Given the description of an element on the screen output the (x, y) to click on. 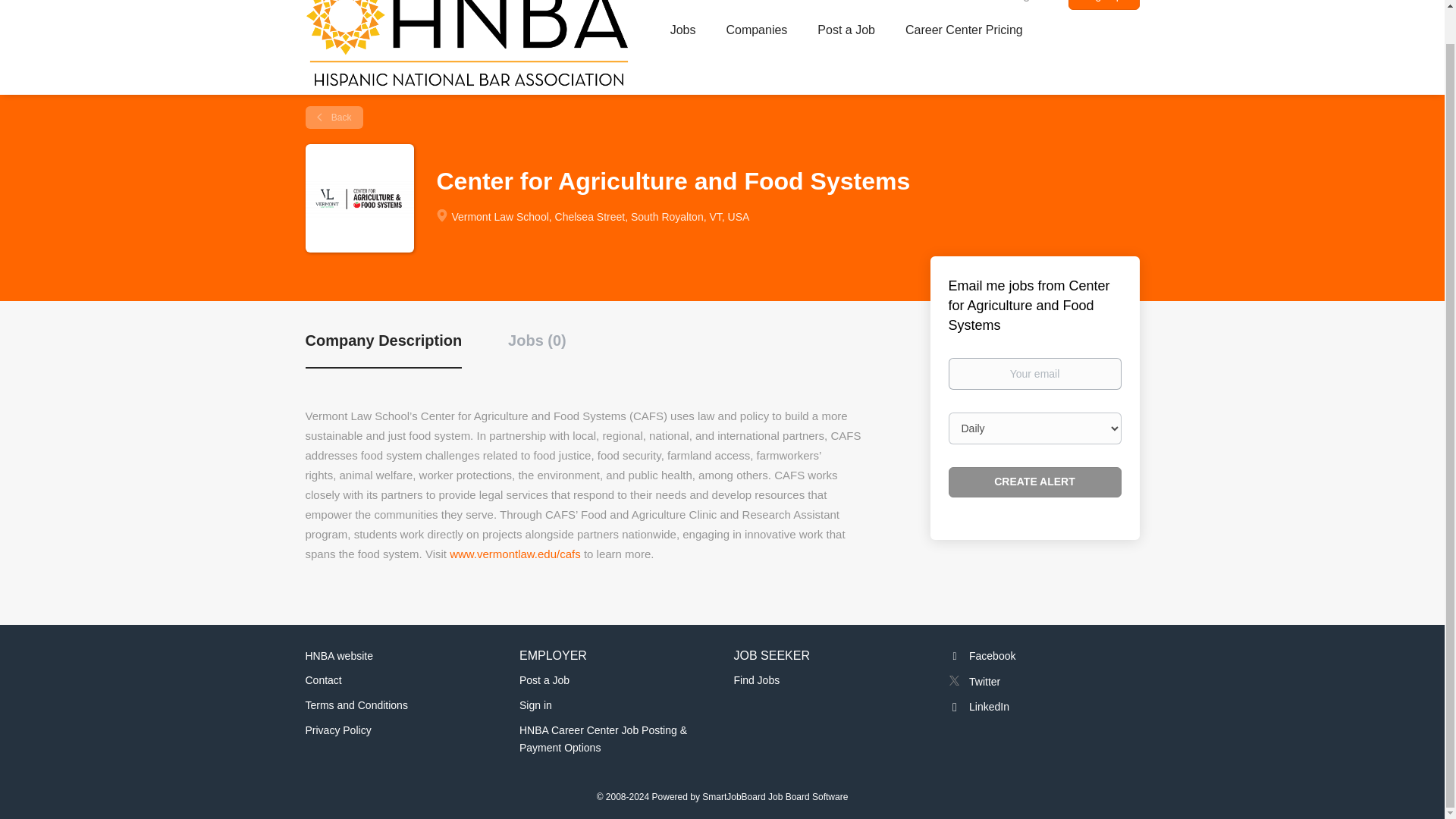
Company Description (382, 349)
Sign in (1031, 5)
Sign in (535, 705)
Facebook (980, 655)
Post a Job (544, 680)
Create alert (1034, 481)
Companies (756, 32)
Post a Job (845, 32)
Terms and Conditions (355, 705)
Sign up (1103, 4)
Twitter (973, 681)
Privacy Policy (337, 729)
HNBA website (338, 655)
Job Board Software, Script (774, 796)
Jobs (682, 32)
